Given the description of an element on the screen output the (x, y) to click on. 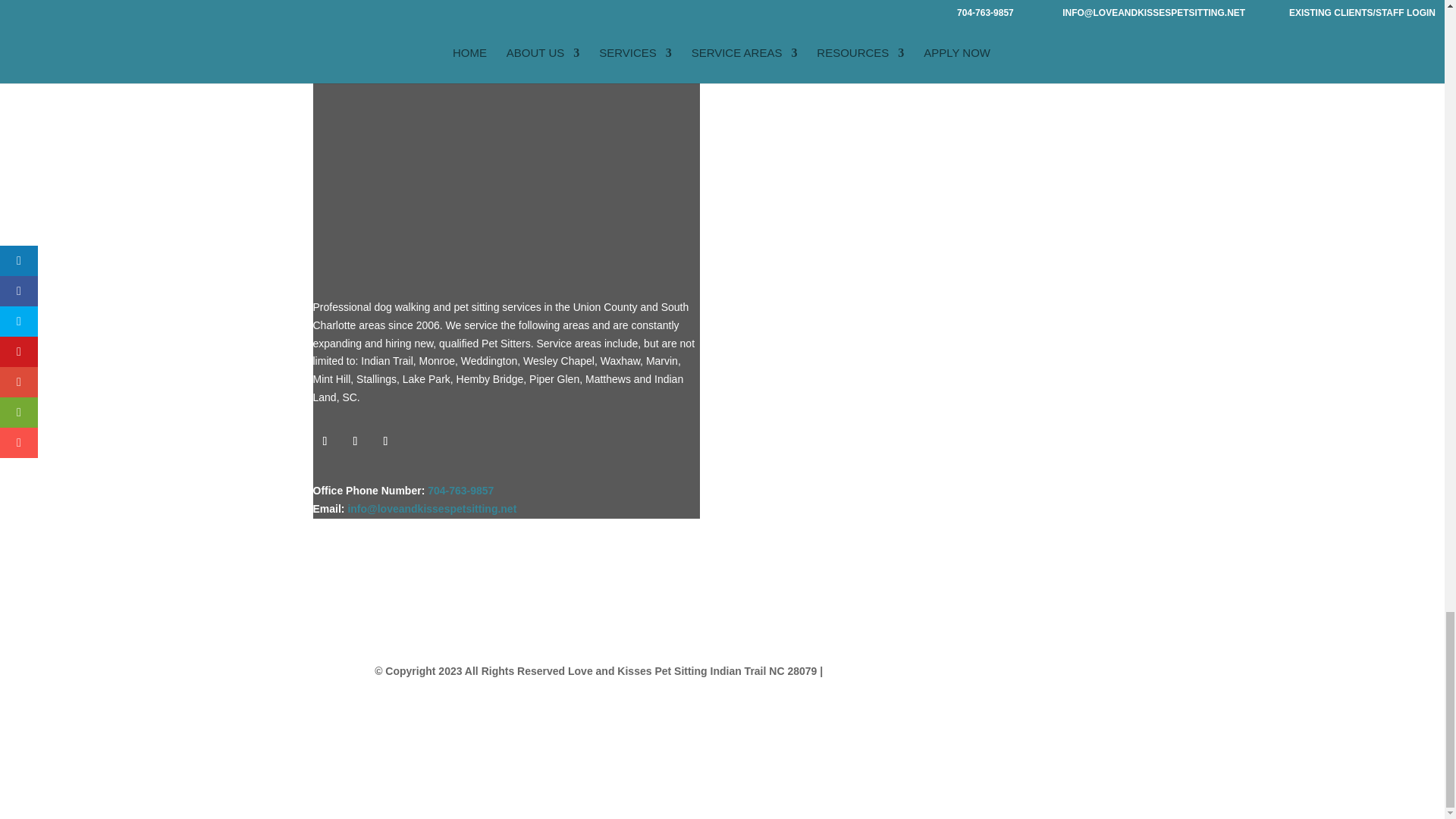
Follow on Youtube (384, 441)
Follow on Instagram (354, 441)
Love and Kisses Pet Sitting Logo Black (502, 138)
Follow on Facebook (324, 441)
